Given the description of an element on the screen output the (x, y) to click on. 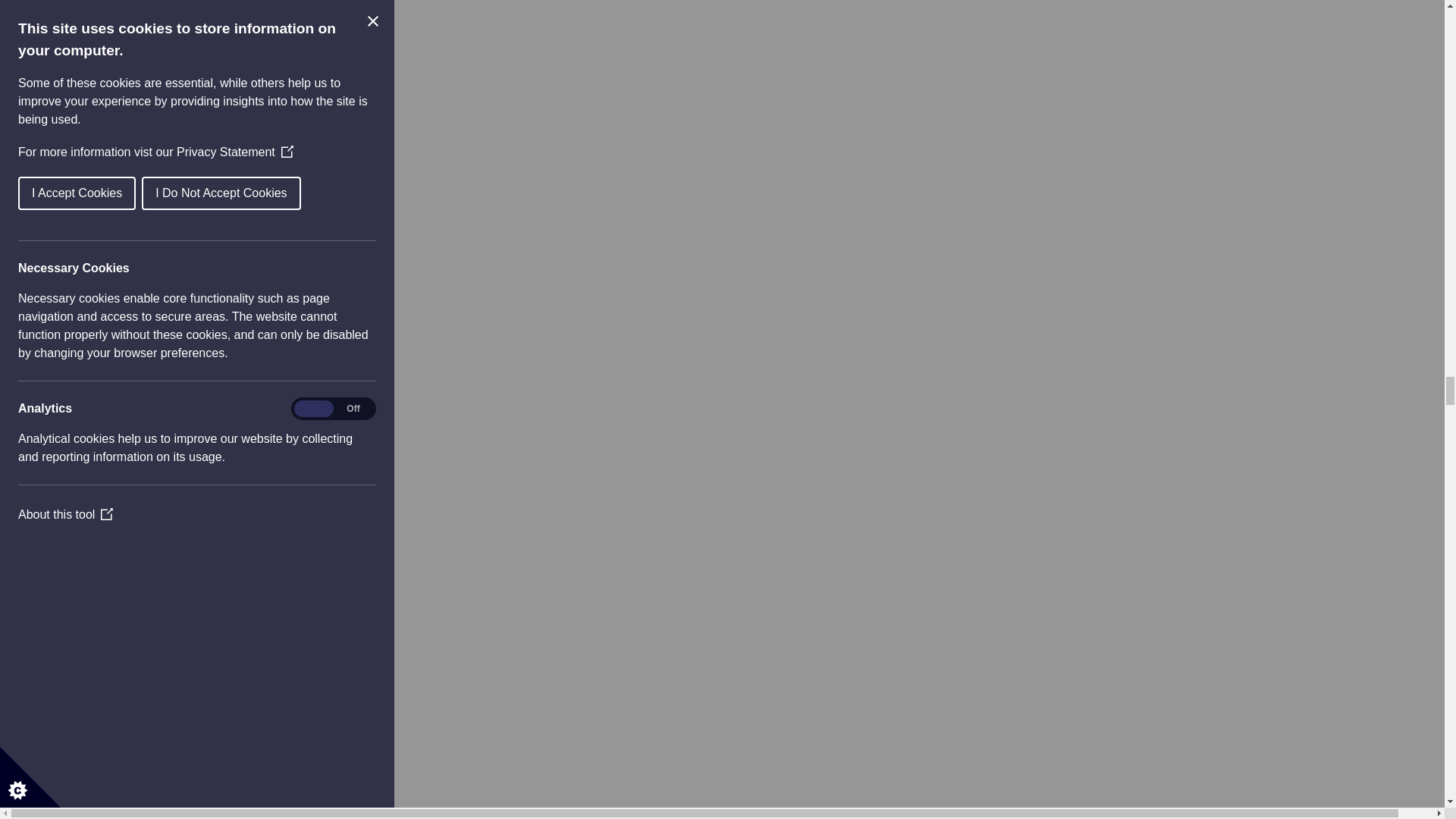
01 (92, 66)
01 (92, 668)
